Given the description of an element on the screen output the (x, y) to click on. 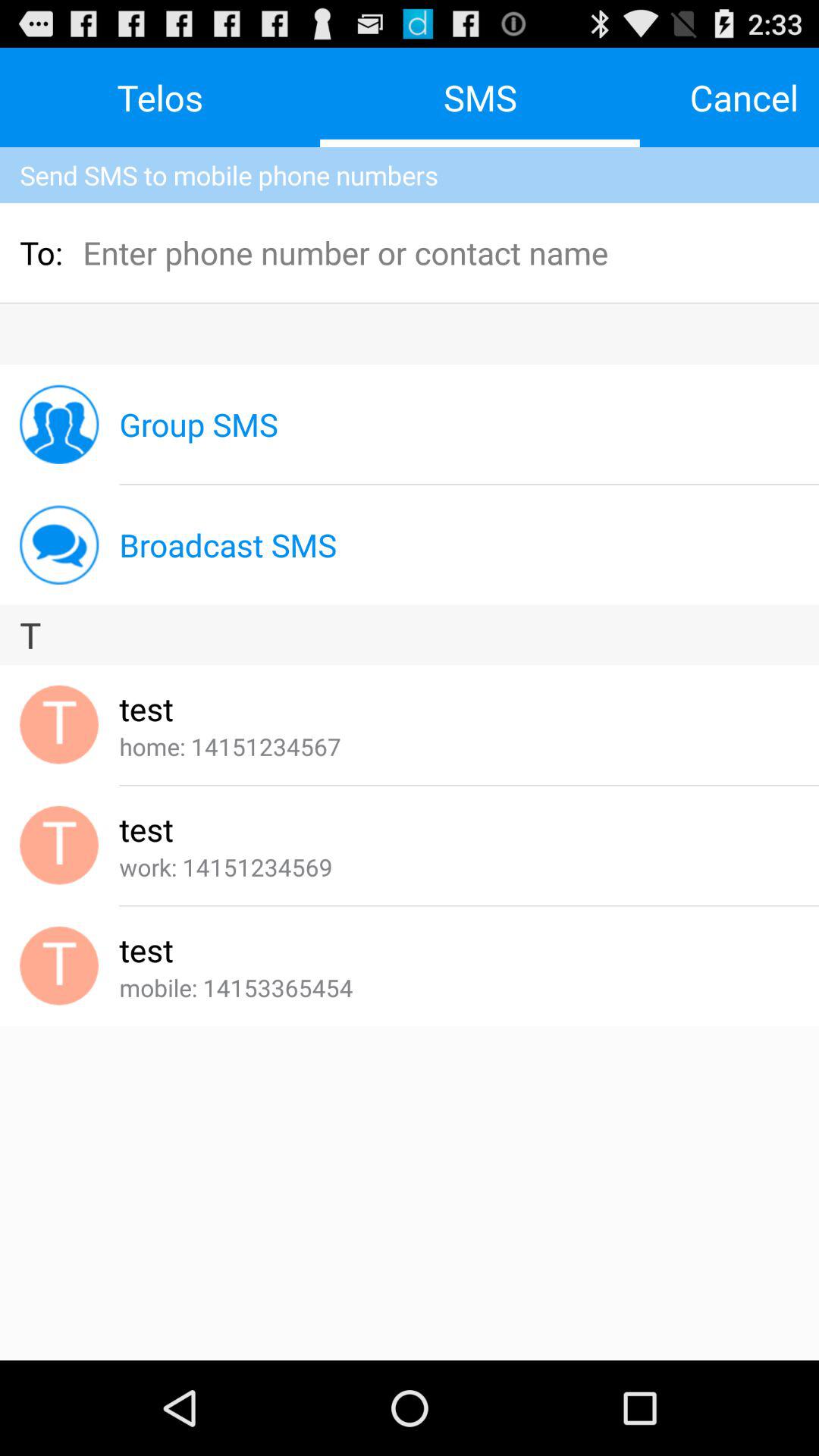
turn on the mobile: 14153365454 at the bottom left corner (236, 987)
